Given the description of an element on the screen output the (x, y) to click on. 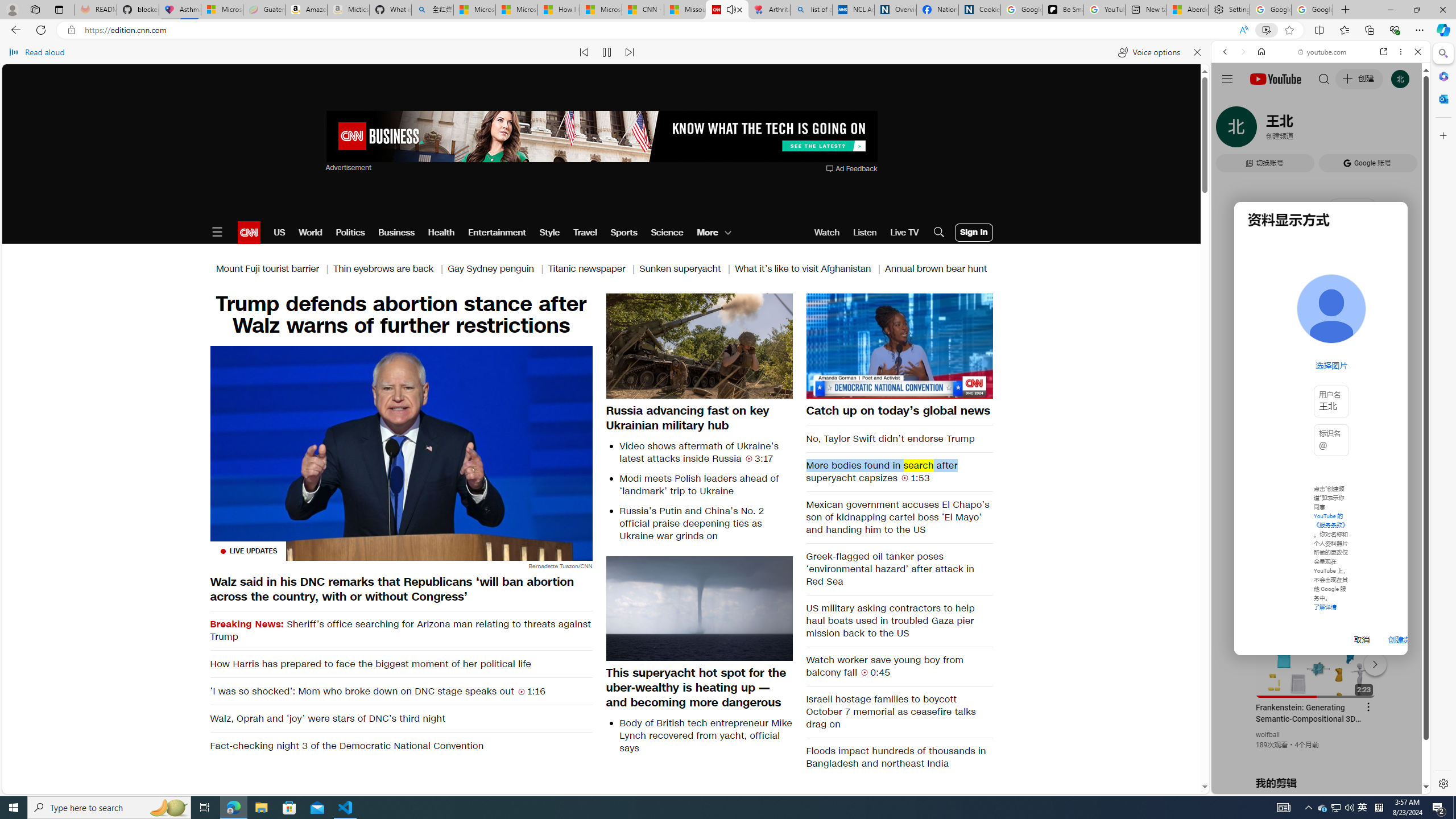
CNN - MSN (642, 9)
Read previous paragraph (583, 52)
Pause read aloud (Ctrl+Shift+U) (606, 52)
Mute tab (730, 8)
